Given the description of an element on the screen output the (x, y) to click on. 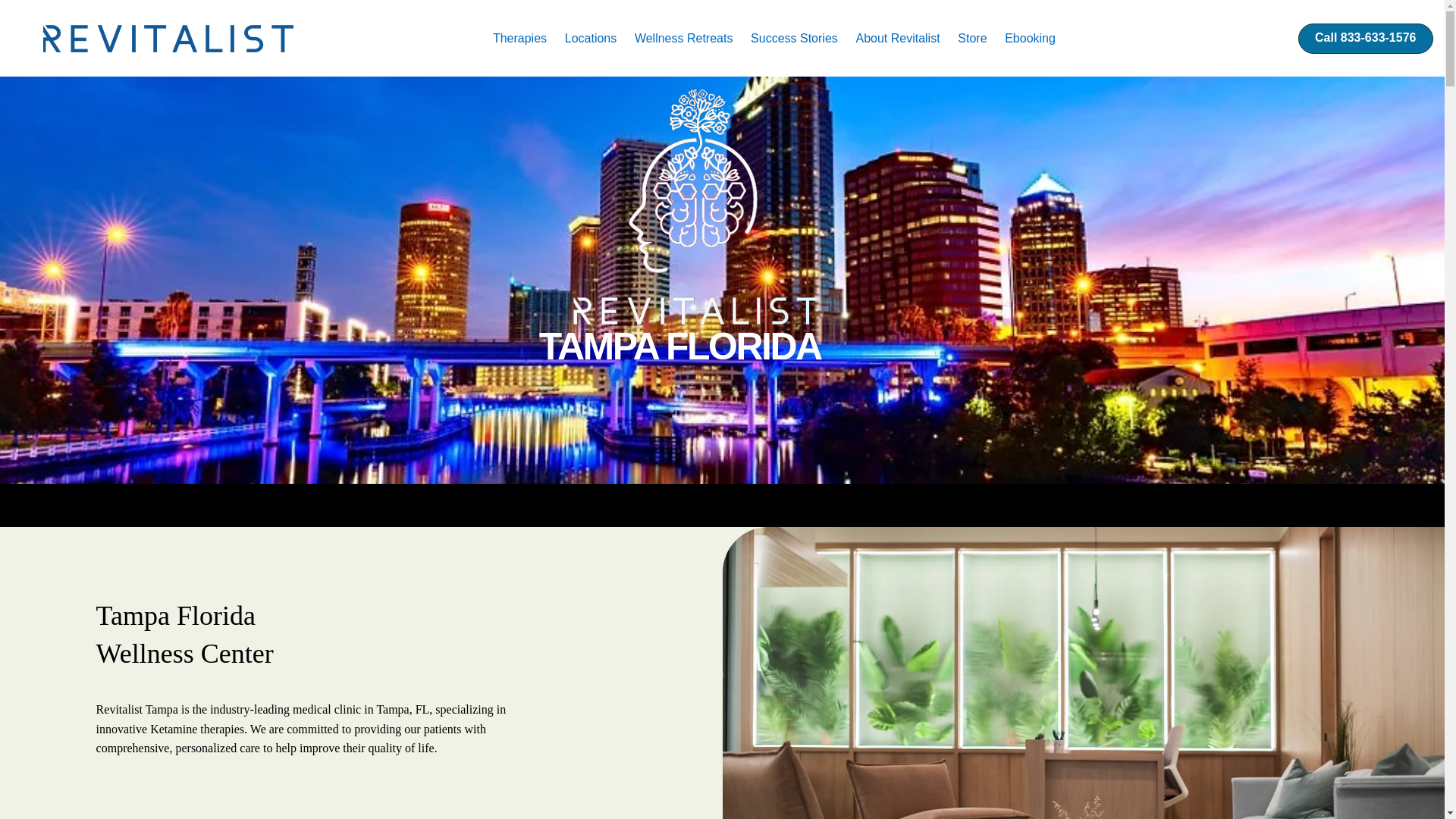
Call 833-633-1576 (1365, 37)
About Revitalist (898, 38)
Ebooking (1031, 38)
Locations (592, 38)
Wellness Retreats (684, 38)
Success Stories (794, 38)
Therapies (520, 38)
Store (973, 38)
